Given the description of an element on the screen output the (x, y) to click on. 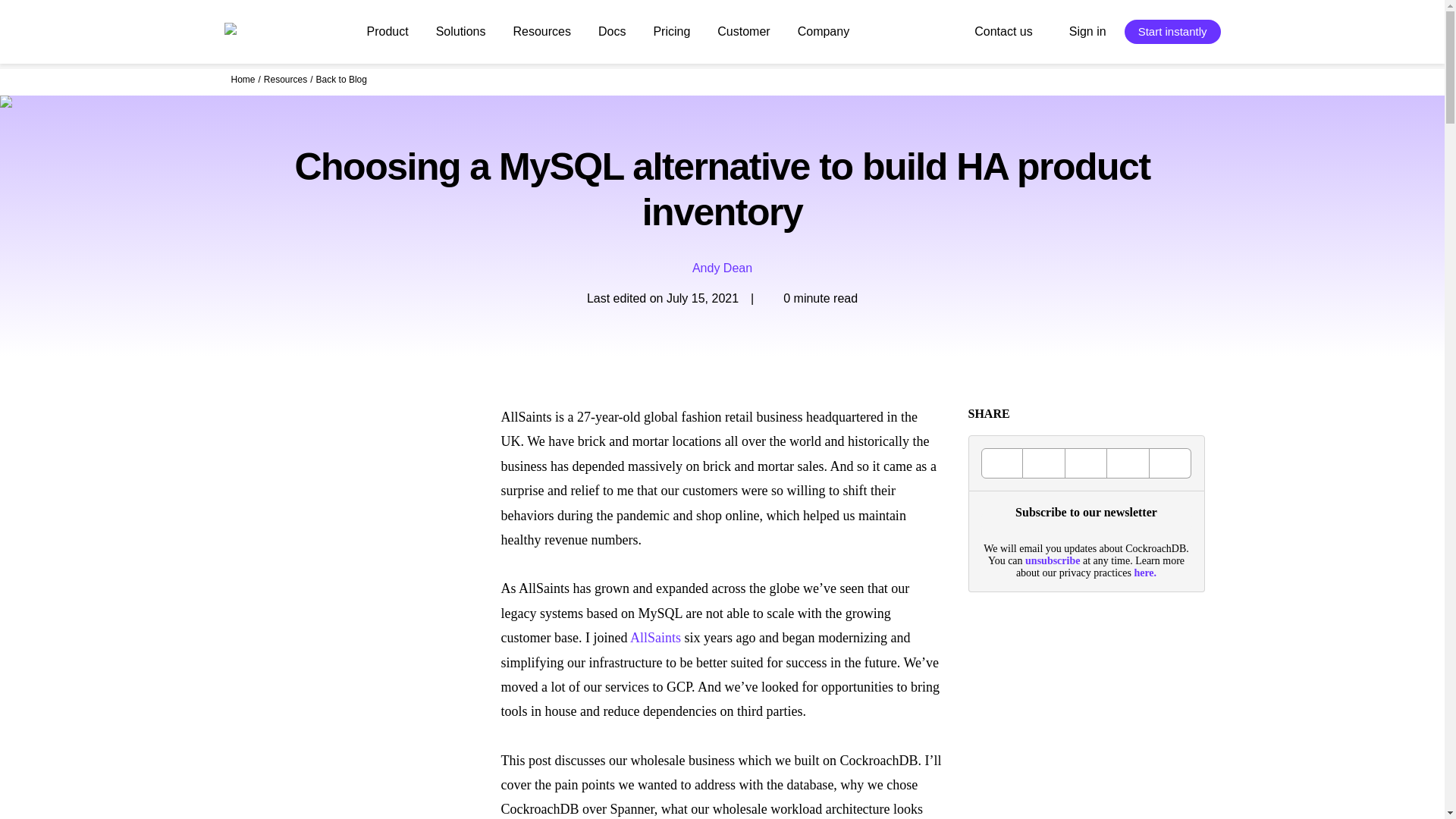
Home (242, 79)
Pricing (670, 31)
Contact us (1002, 31)
Start instantly (1172, 31)
AllSaints (655, 637)
Docs (611, 31)
Customer (743, 31)
Resources (541, 31)
Company (824, 31)
